Given the description of an element on the screen output the (x, y) to click on. 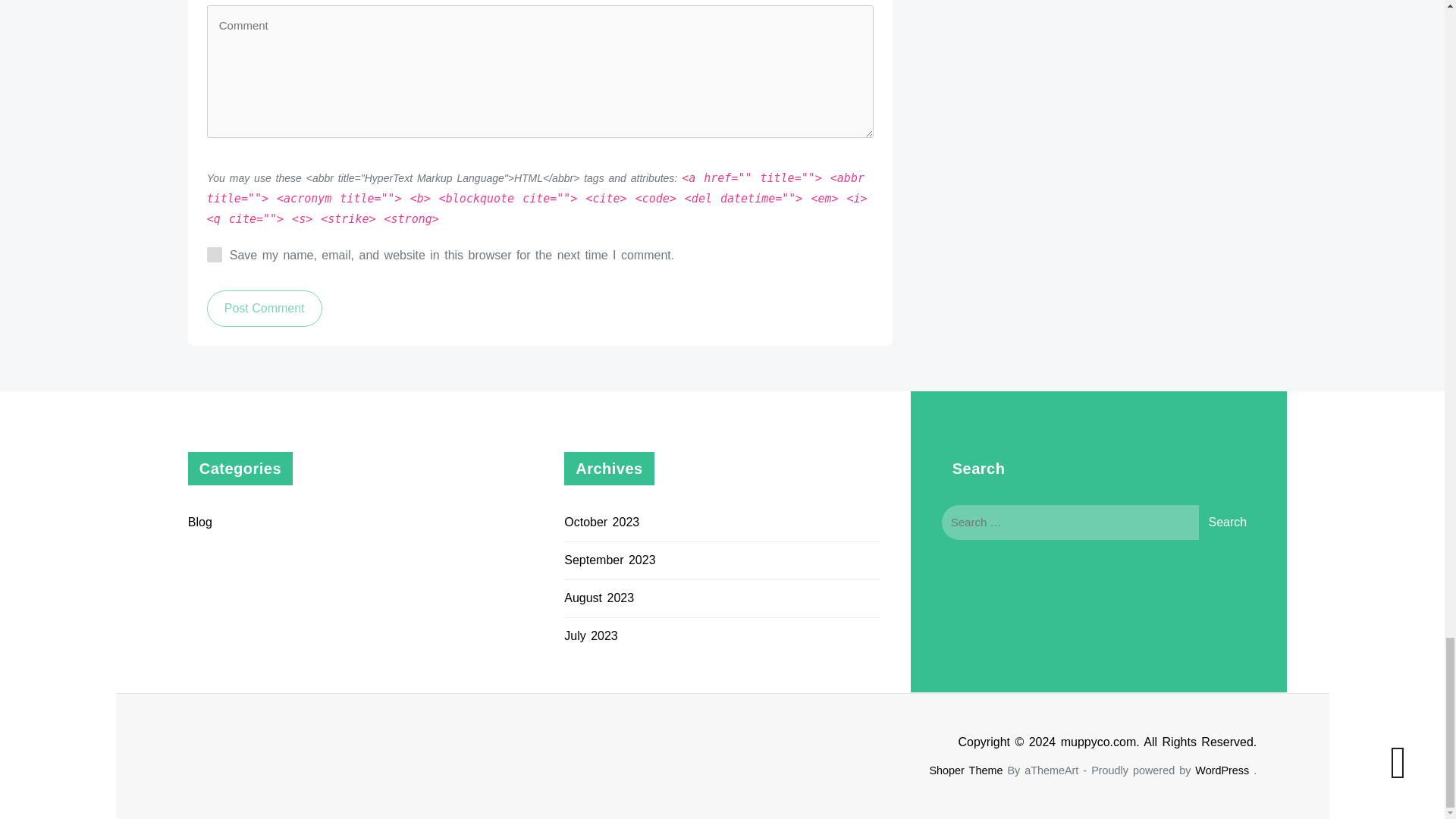
July 2023 (590, 635)
August 2023 (598, 597)
yes (214, 254)
WordPress (1222, 770)
Search (1227, 522)
October 2023 (601, 521)
Blog (199, 521)
Post Comment (263, 308)
Shoper Theme (965, 770)
Search (1227, 522)
